Given the description of an element on the screen output the (x, y) to click on. 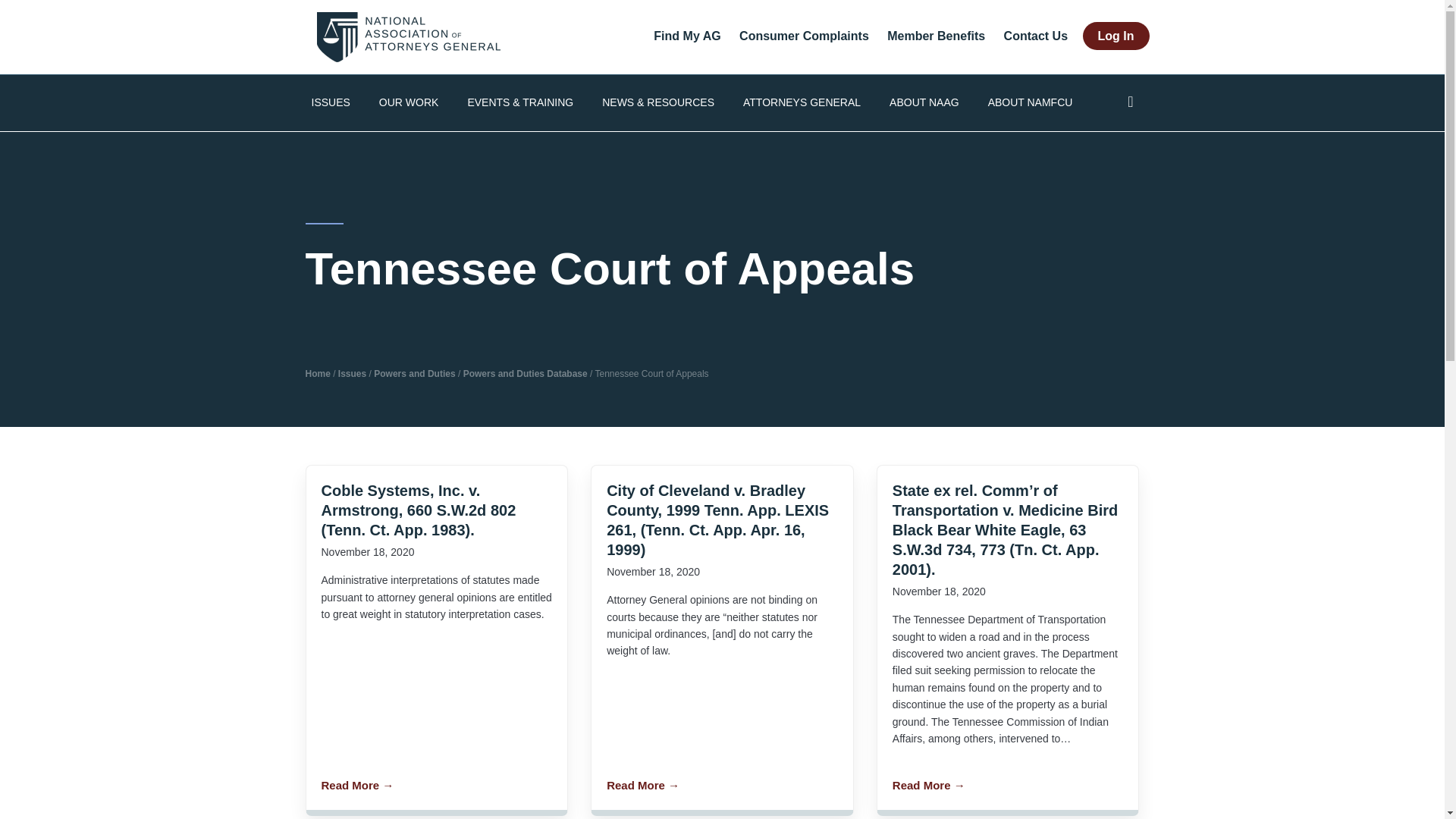
Go to Powers and Duties Database. (525, 373)
Go to Powers and Duties. (414, 373)
Go to National Association of Attorneys General. (317, 373)
Go to Issues. (351, 373)
